Given the description of an element on the screen output the (x, y) to click on. 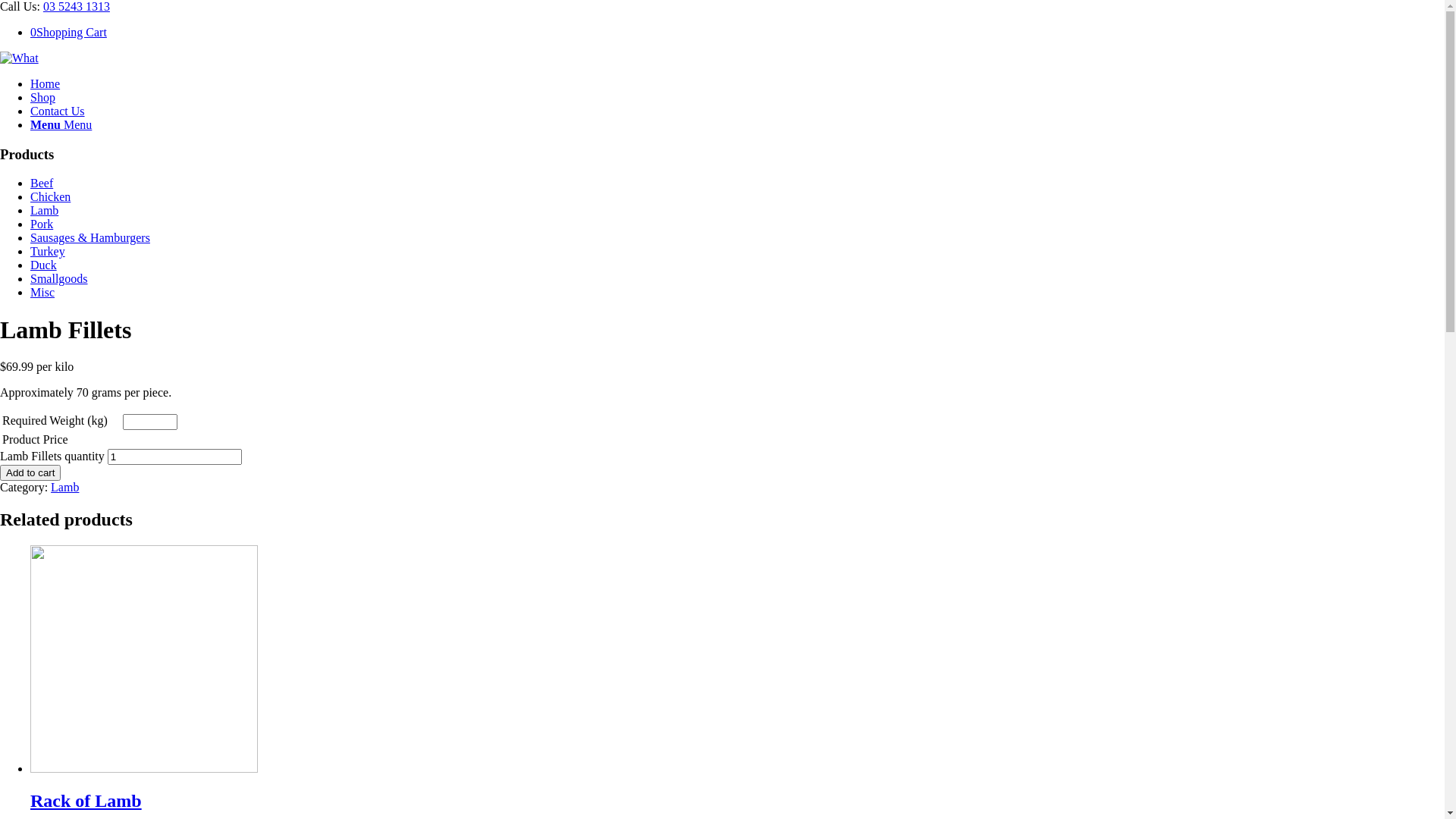
WhatsForDinnerLogoOpt1 Element type: hover (19, 58)
Turkey Element type: text (47, 250)
Smallgoods Element type: text (58, 278)
0Shopping Cart Element type: text (68, 31)
03 5243 1313 Element type: text (76, 6)
Beef Element type: text (41, 182)
Lamb Element type: text (44, 209)
Chicken Element type: text (50, 196)
Menu Menu Element type: text (60, 124)
Home Element type: text (44, 83)
Contact Us Element type: text (57, 110)
Shop Element type: text (42, 97)
Qty Element type: hover (174, 456)
Misc Element type: text (42, 291)
Lamb Element type: text (64, 486)
Pork Element type: text (41, 223)
Duck Element type: text (43, 264)
Sausages & Hamburgers Element type: text (90, 237)
Add to cart Element type: text (30, 472)
